Given the description of an element on the screen output the (x, y) to click on. 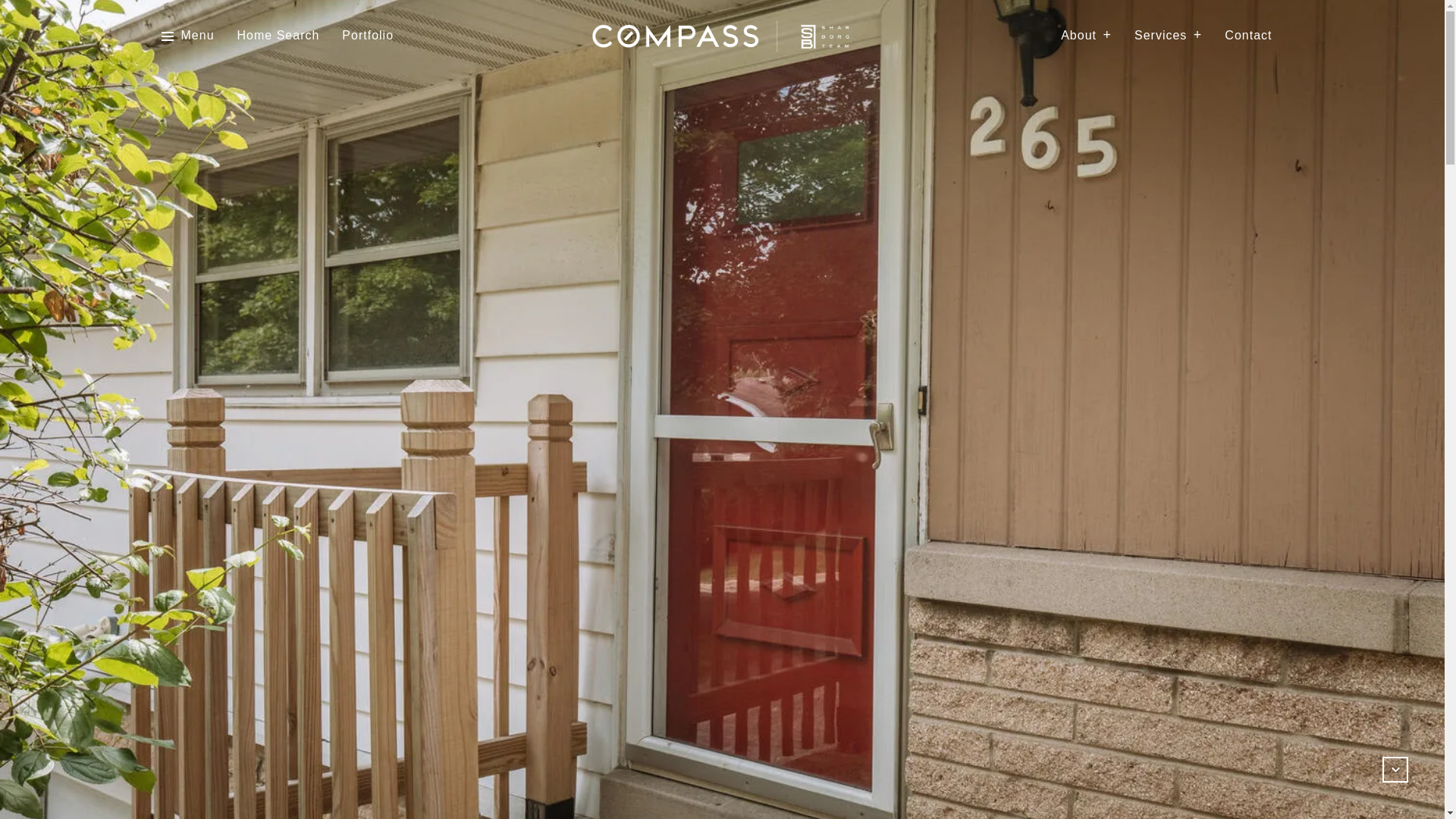
Portfolio (367, 35)
Home Search (278, 35)
Services (1168, 35)
Menu (197, 35)
Contact (1247, 35)
About (1086, 35)
Menu (187, 35)
